Given the description of an element on the screen output the (x, y) to click on. 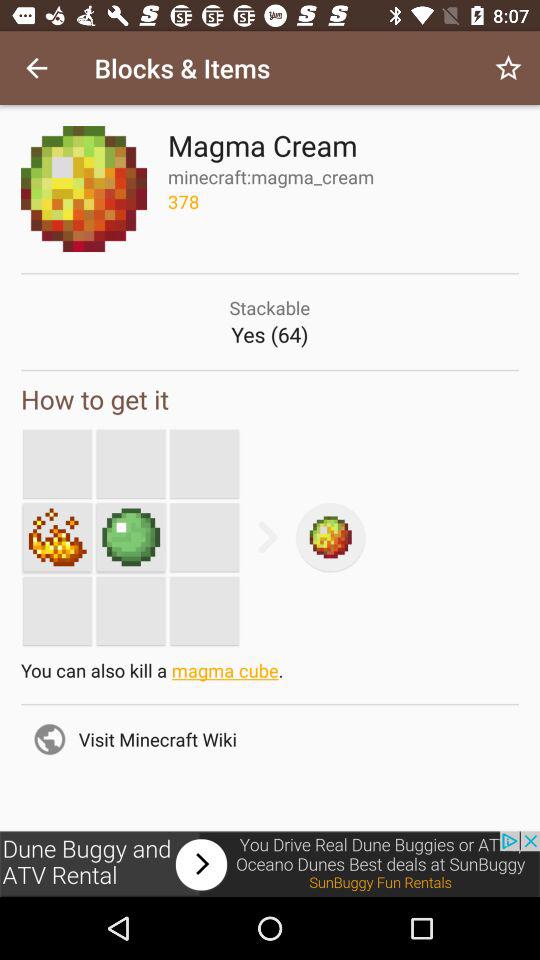
select item (57, 537)
